Given the description of an element on the screen output the (x, y) to click on. 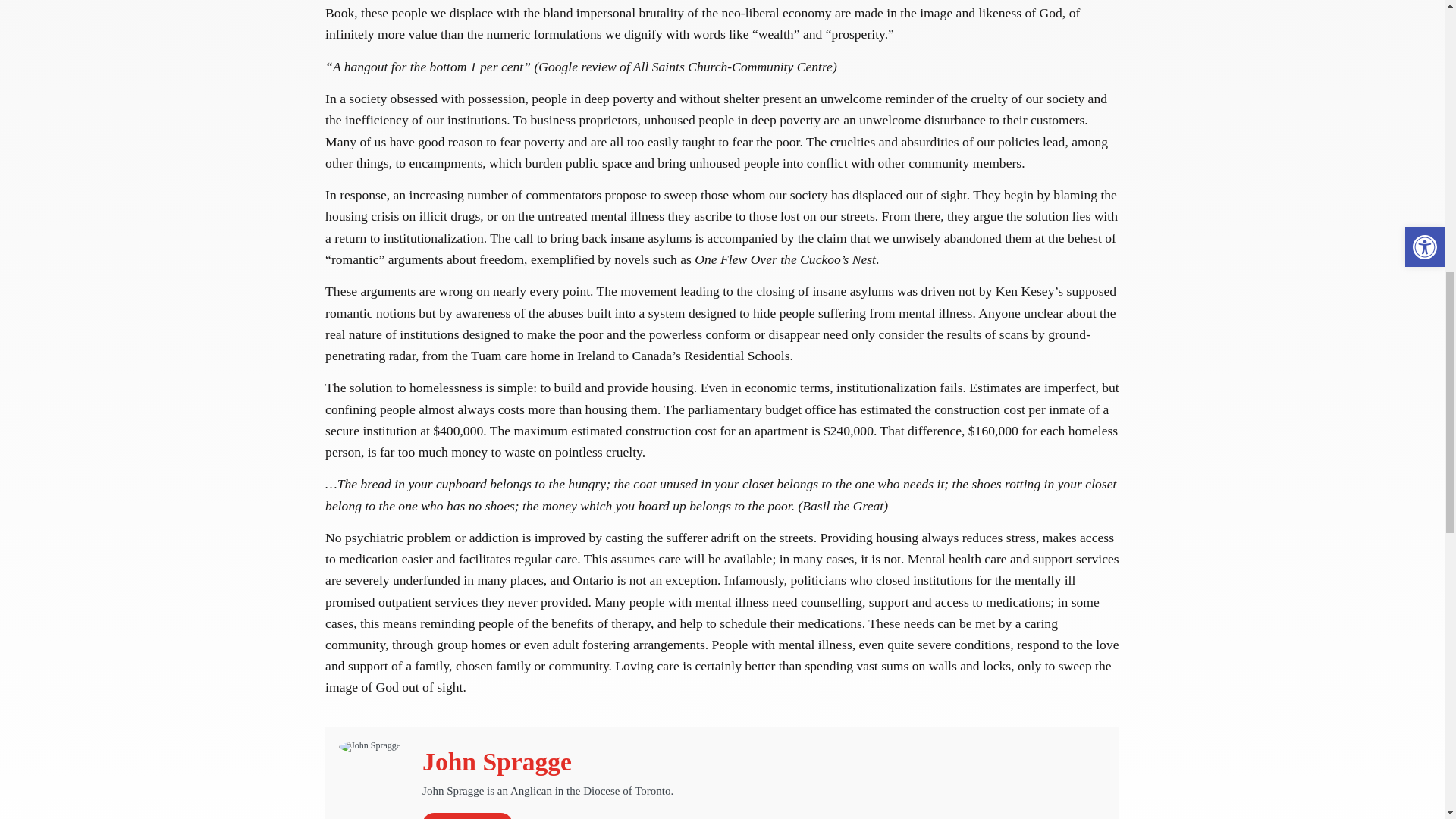
John Spragge (497, 761)
View all posts (467, 816)
